Given the description of an element on the screen output the (x, y) to click on. 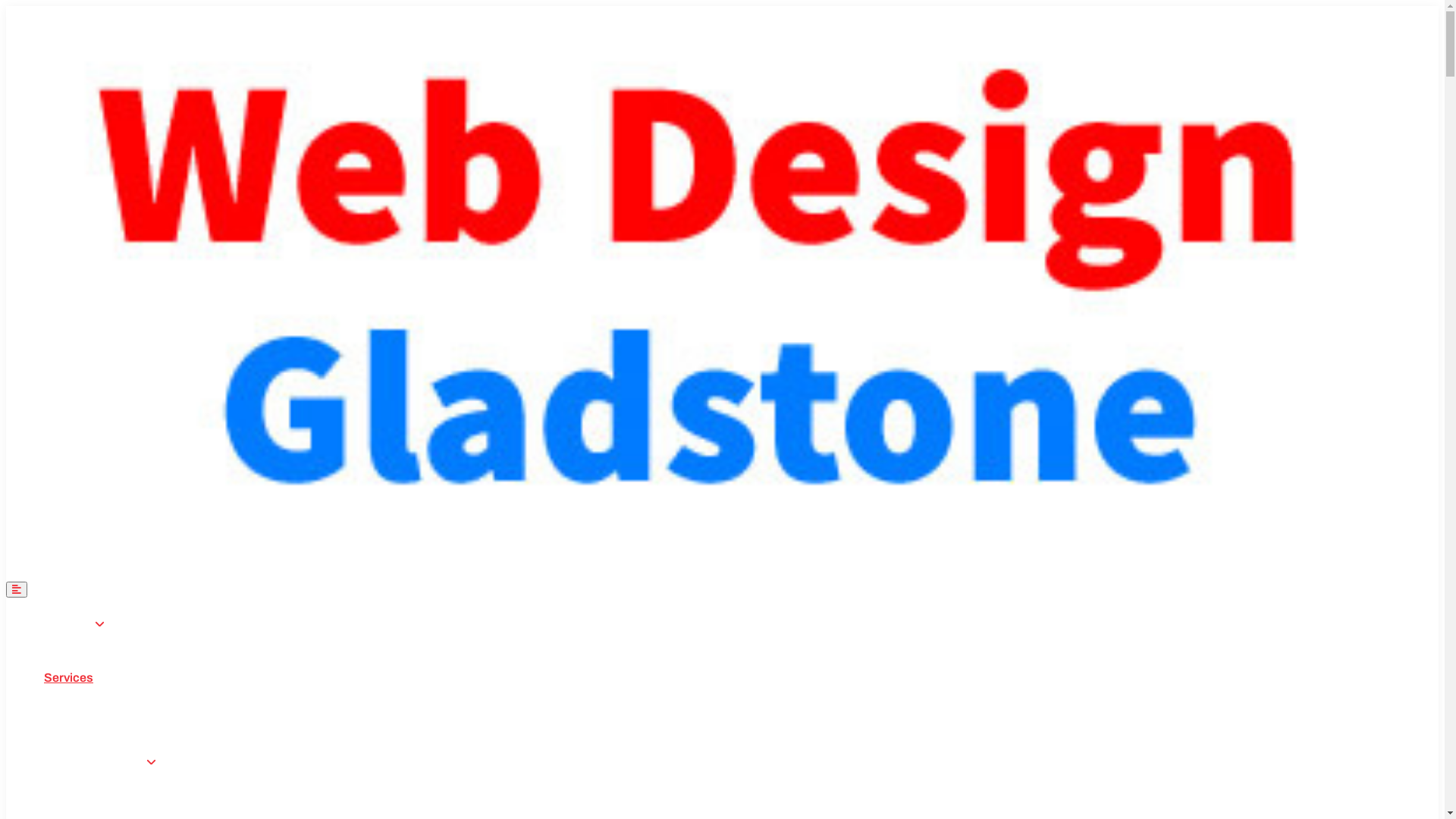
Services Element type: text (68, 677)
Web Design Gladstone Element type: hover (695, 299)
